Given the description of an element on the screen output the (x, y) to click on. 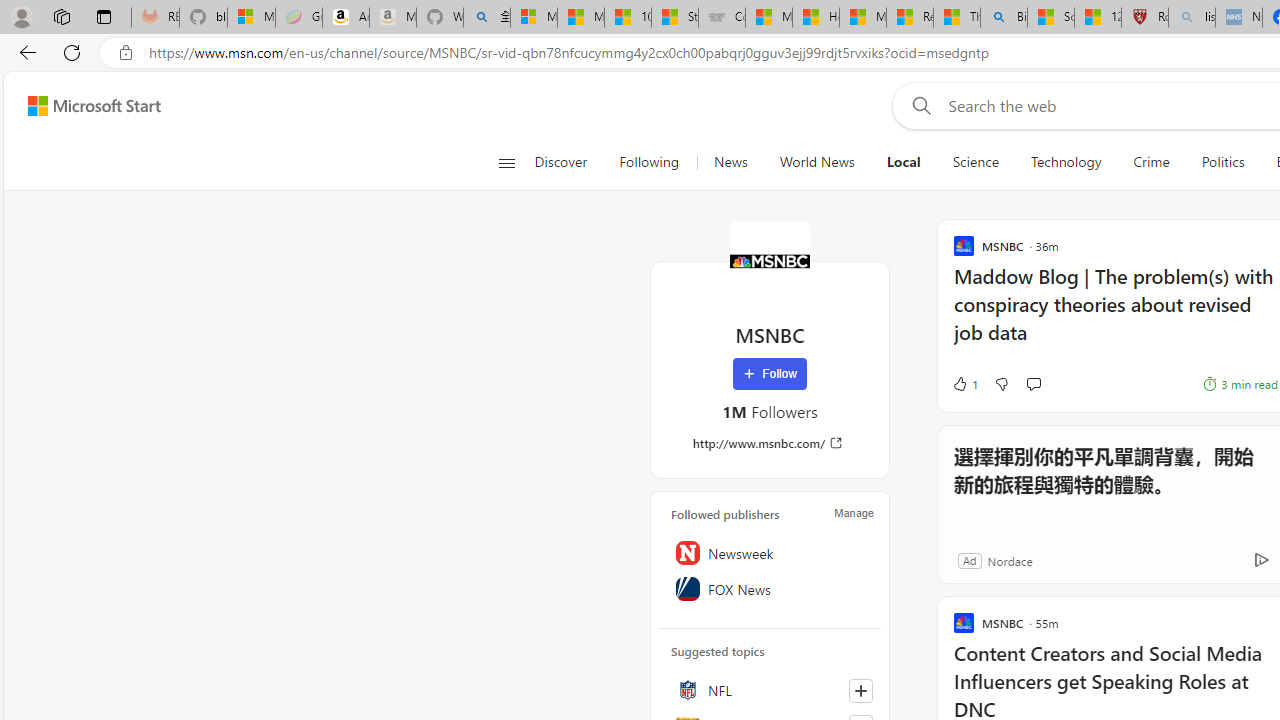
12 Popular Science Lies that Must be Corrected (1098, 17)
NFL (770, 690)
Follow this topic (860, 690)
Follow (769, 373)
